Given the description of an element on the screen output the (x, y) to click on. 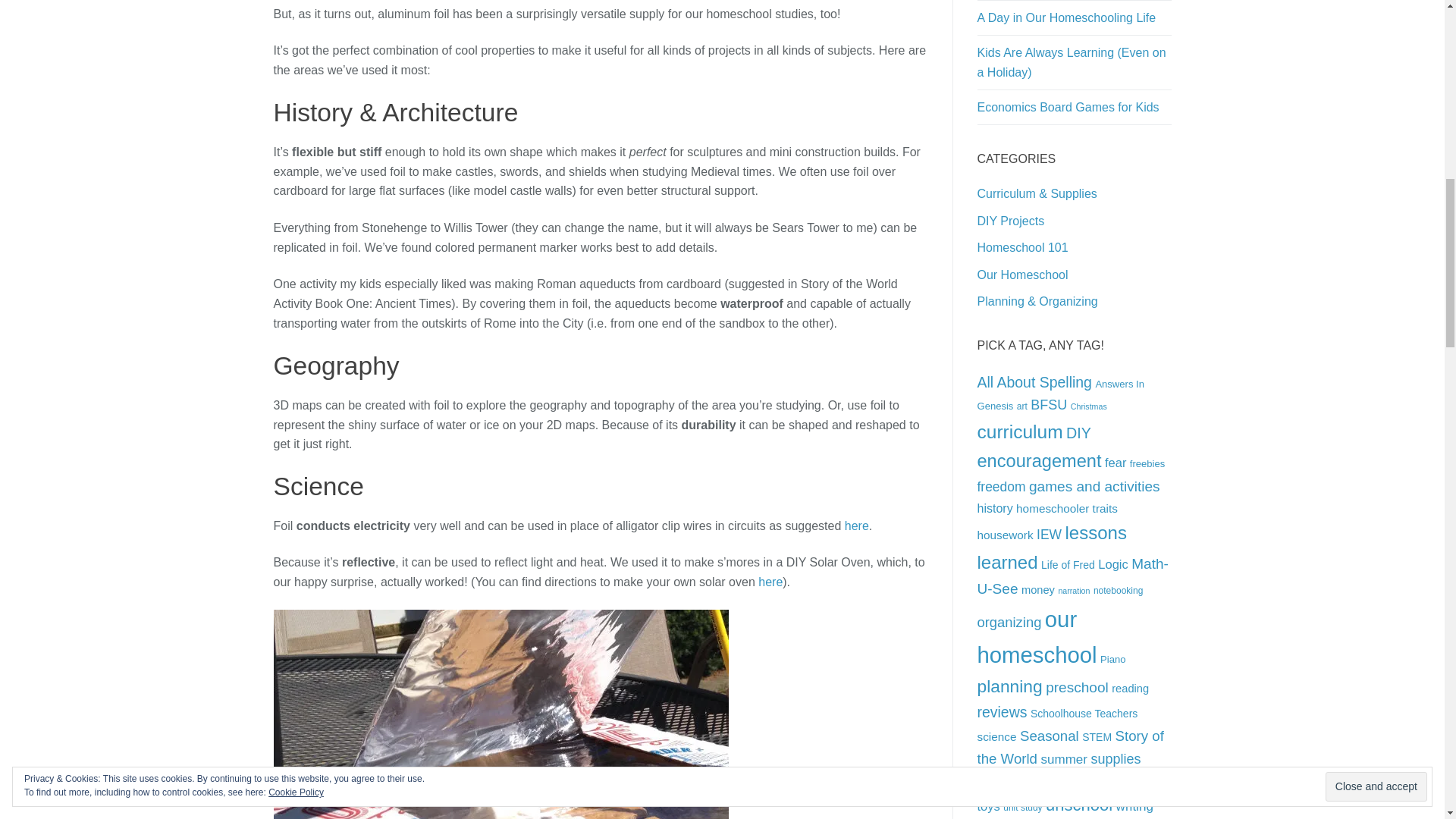
here (856, 525)
here (770, 581)
